Given the description of an element on the screen output the (x, y) to click on. 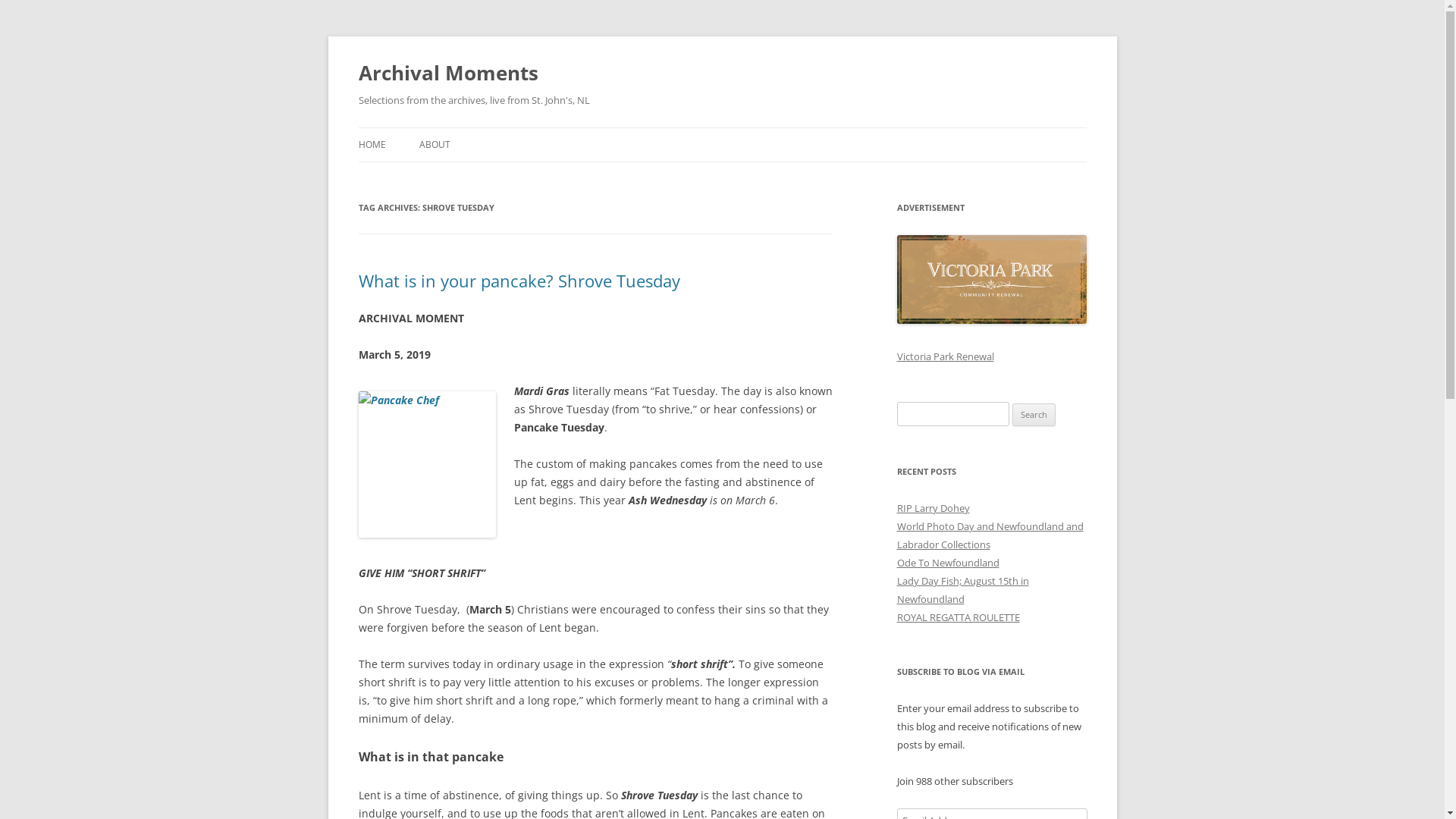
Ode To Newfoundland Element type: text (947, 562)
Skip to content Element type: text (721, 127)
Victoria Park Renewal Element type: text (944, 356)
RIP Larry Dohey Element type: text (932, 507)
HOME Element type: text (371, 144)
World Photo Day and Newfoundland and Labrador Collections Element type: text (989, 535)
Archival Moments Element type: text (447, 72)
ROYAL REGATTA ROULETTE Element type: text (957, 617)
ABOUT Element type: text (433, 144)
What is in your pancake? Shrove Tuesday Element type: text (518, 280)
Search Element type: text (1033, 414)
Lady Day Fish; August 15th in Newfoundland Element type: text (962, 589)
